Given the description of an element on the screen output the (x, y) to click on. 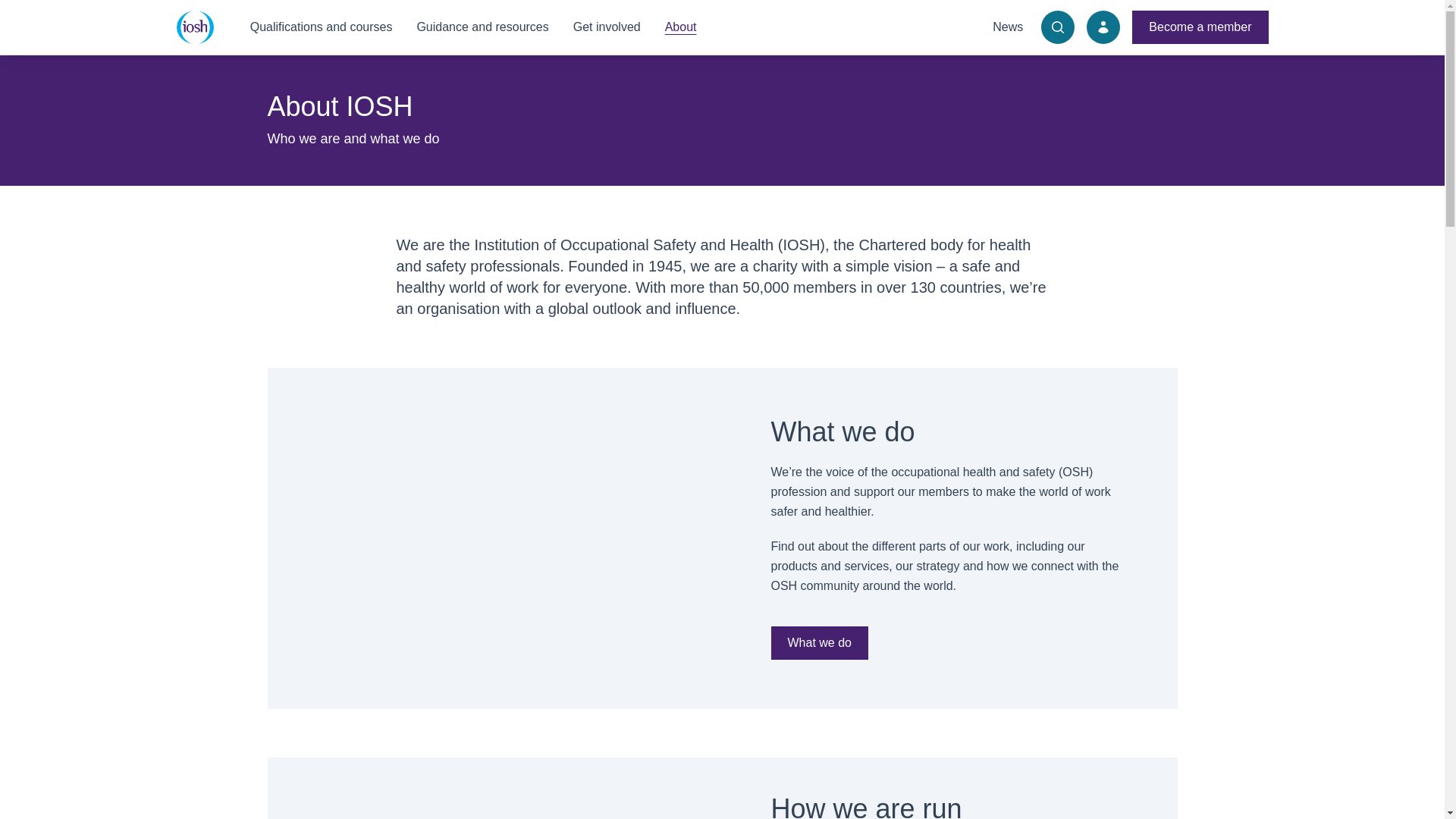
News (1007, 26)
About (681, 26)
Your account (1102, 27)
Get involved (606, 26)
Skip to content (11, 8)
IOSH (194, 27)
Become a member (1200, 27)
Qualifications and courses (321, 26)
Guidance and resources (482, 26)
Search (1057, 27)
